Given the description of an element on the screen output the (x, y) to click on. 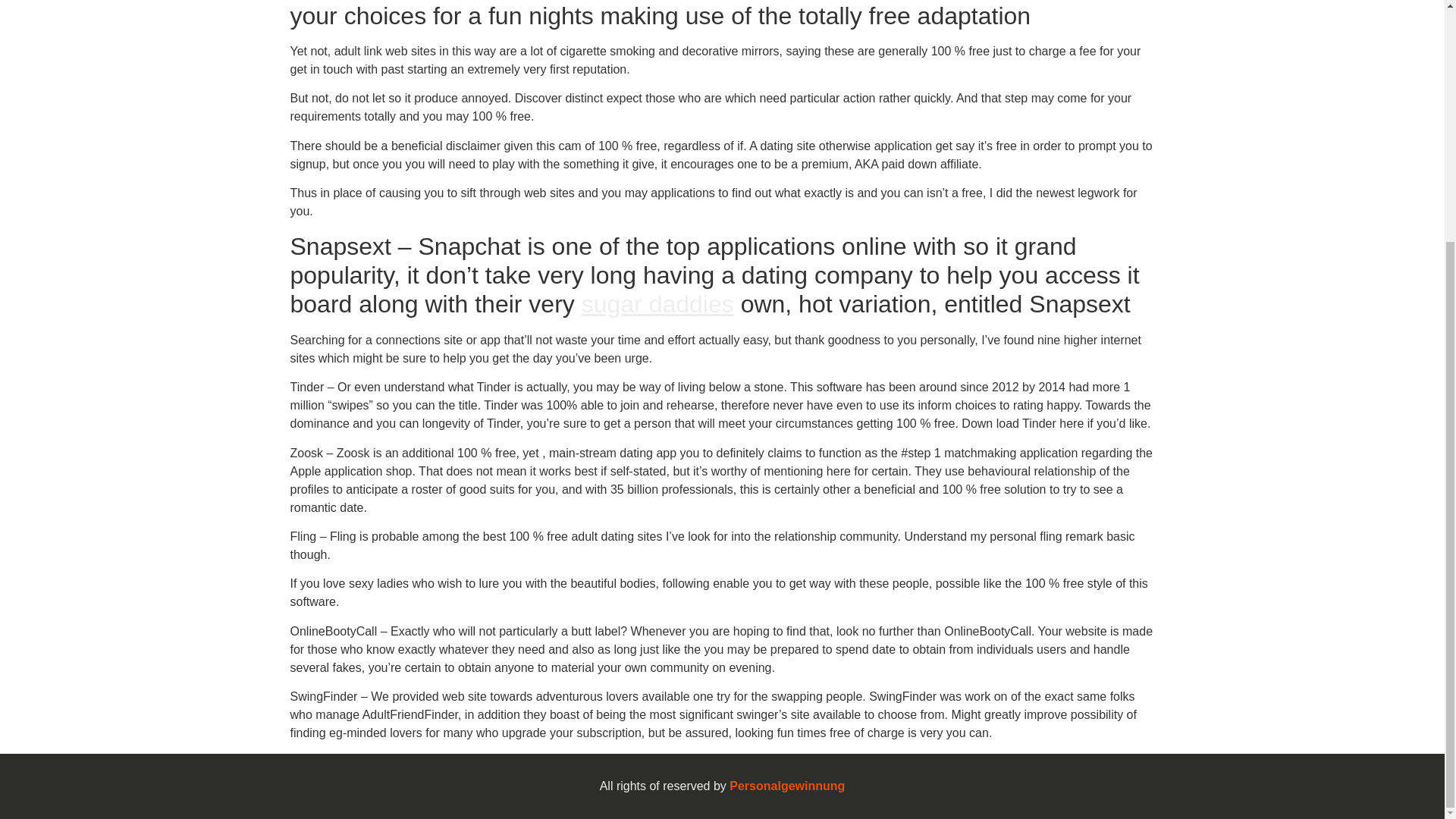
sugar daddies (656, 303)
